Given the description of an element on the screen output the (x, y) to click on. 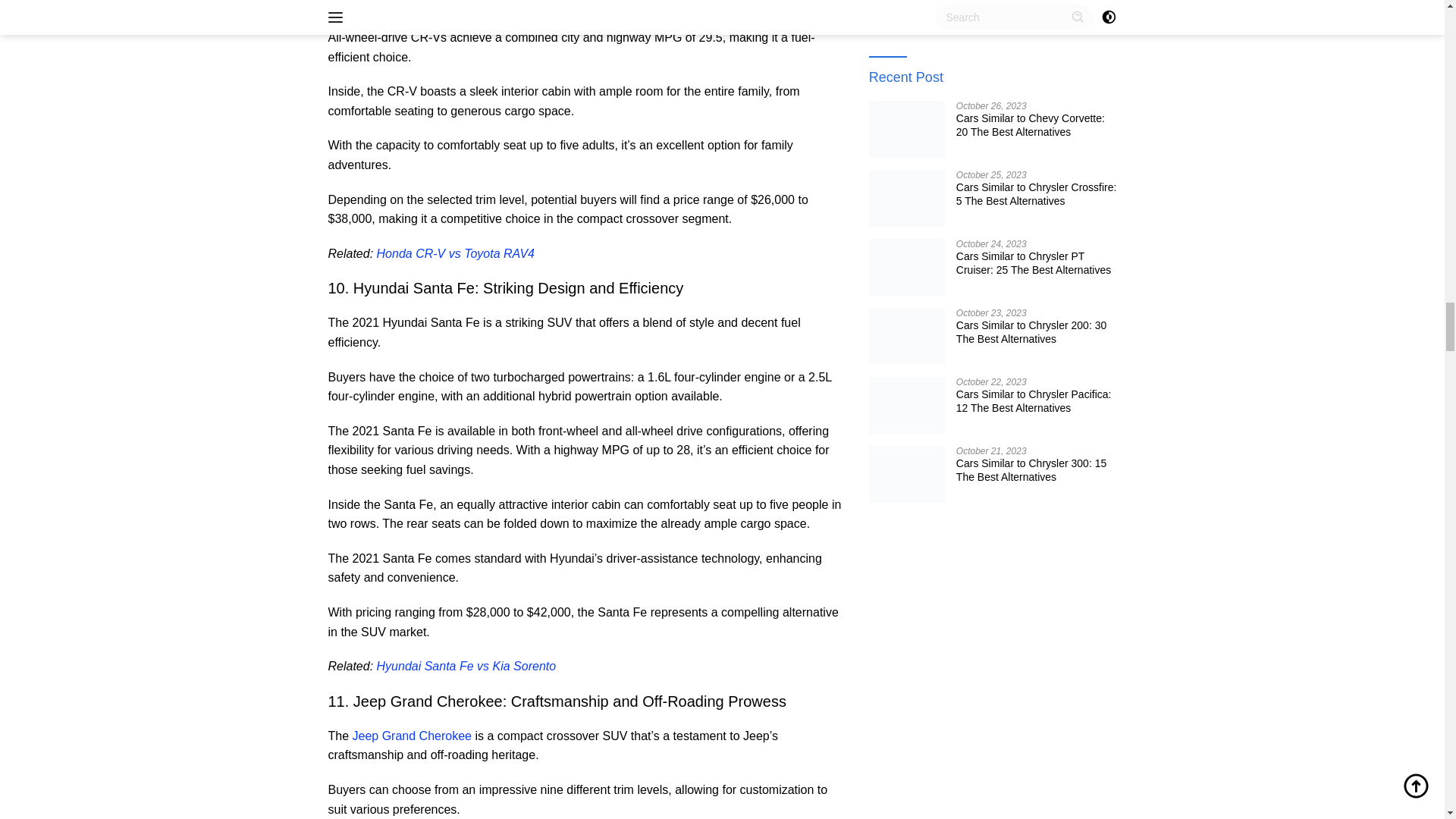
Honda CR-V vs Toyota RAV4 (455, 253)
Jeep Grand Cherokee (411, 735)
Hyundai Santa Fe vs Kia Sorento (466, 666)
